Given the description of an element on the screen output the (x, y) to click on. 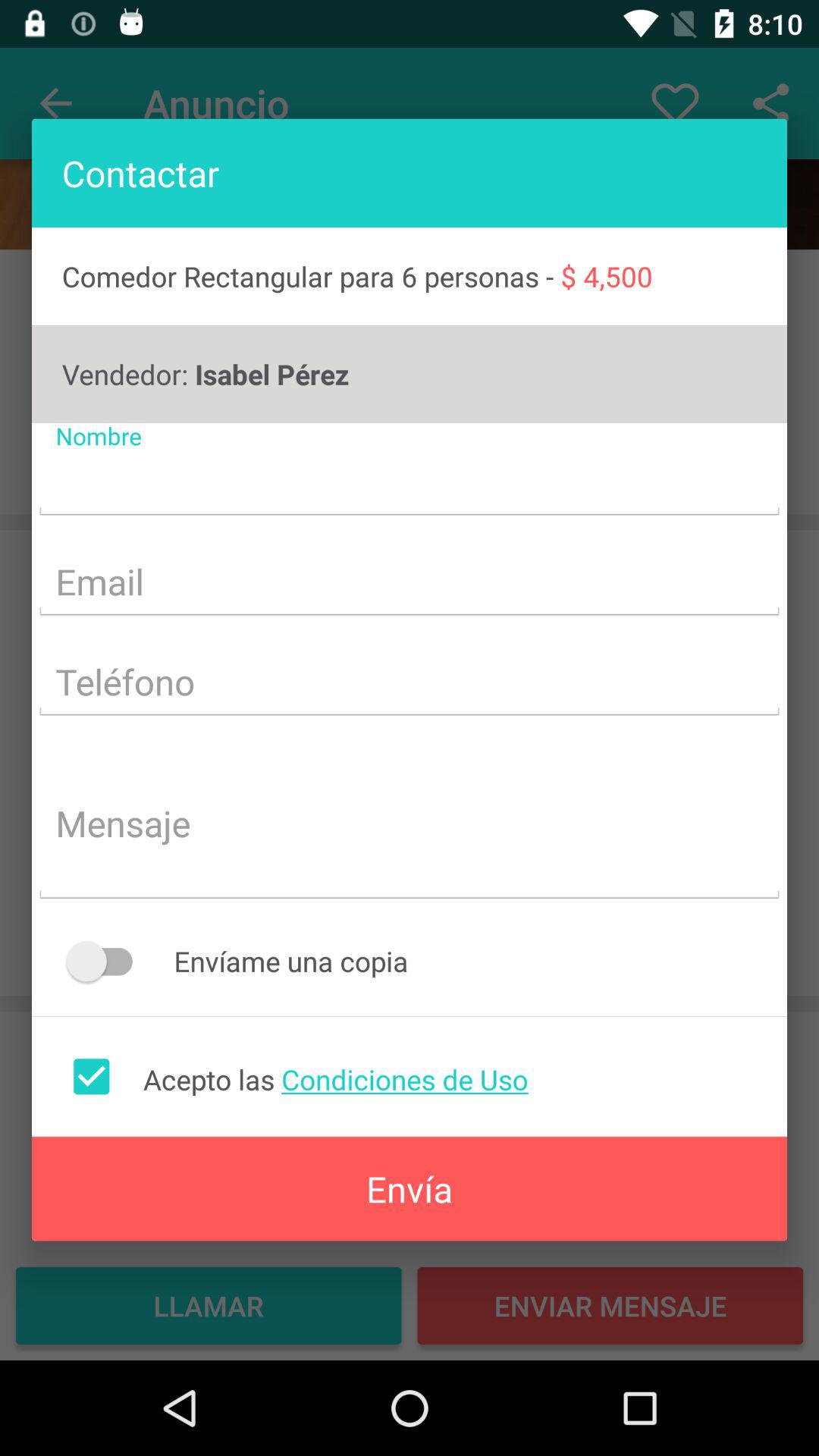
enter telephone number (409, 683)
